Given the description of an element on the screen output the (x, y) to click on. 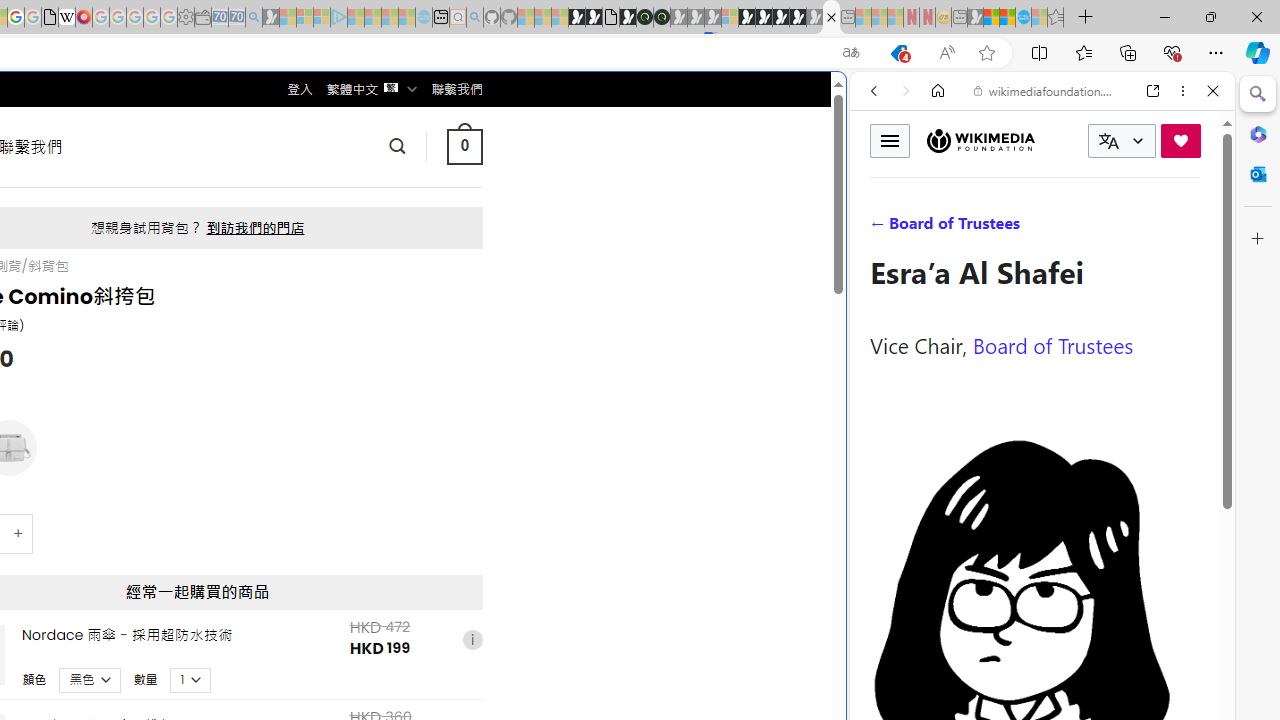
Wikimedia Foundation (980, 141)
+ (19, 532)
Sign in to your account - Sleeping (729, 17)
